Given the description of an element on the screen output the (x, y) to click on. 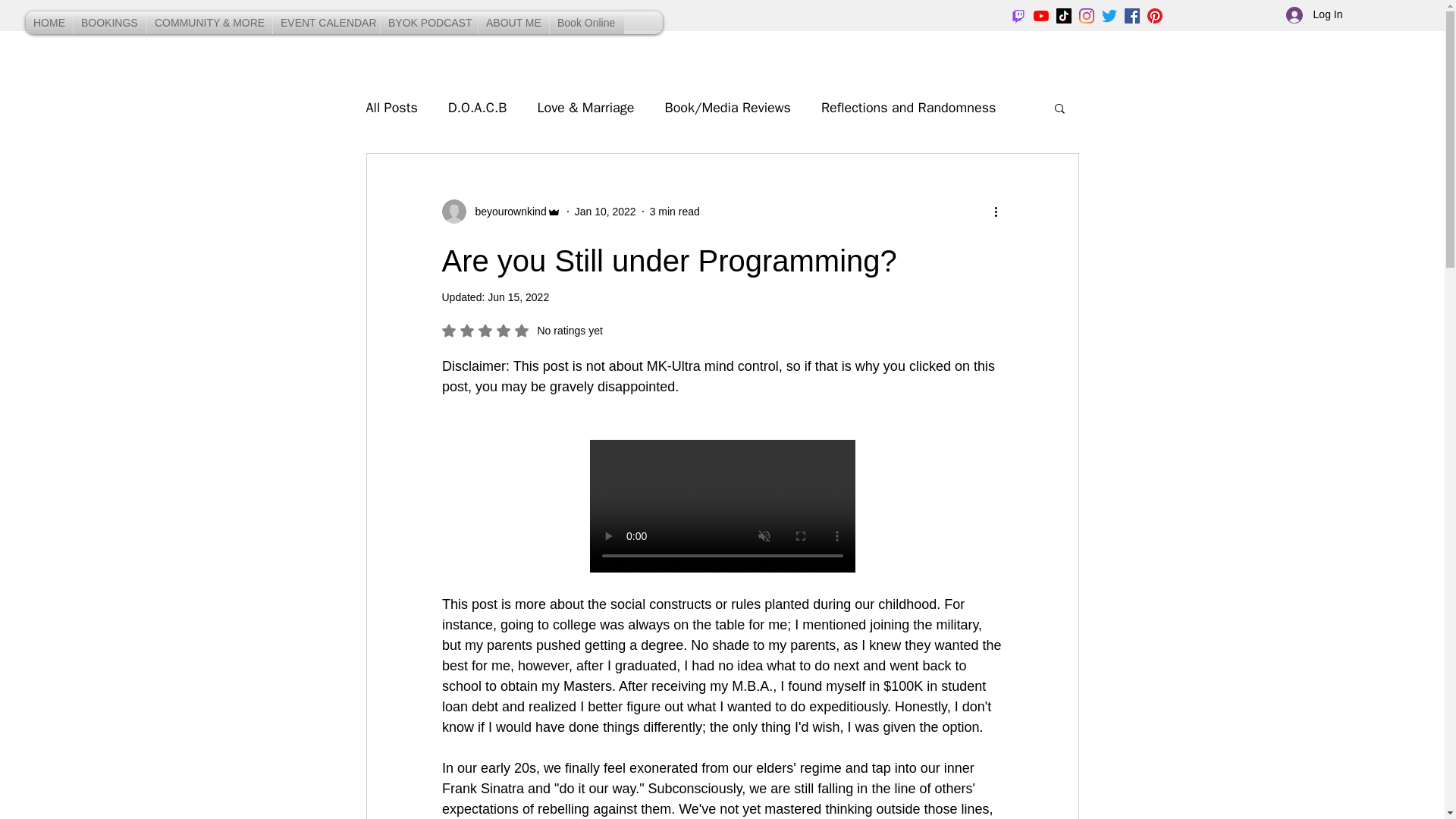
Reflections and Randomness (908, 107)
3 min read (674, 210)
beyourownkind (505, 211)
ABOUT ME (513, 22)
HOME (49, 22)
Jun 15, 2022 (517, 297)
BYOK PODCAST (428, 22)
beyourownkind (500, 211)
Jan 10, 2022 (605, 210)
EVENT CALENDAR (326, 22)
